Given the description of an element on the screen output the (x, y) to click on. 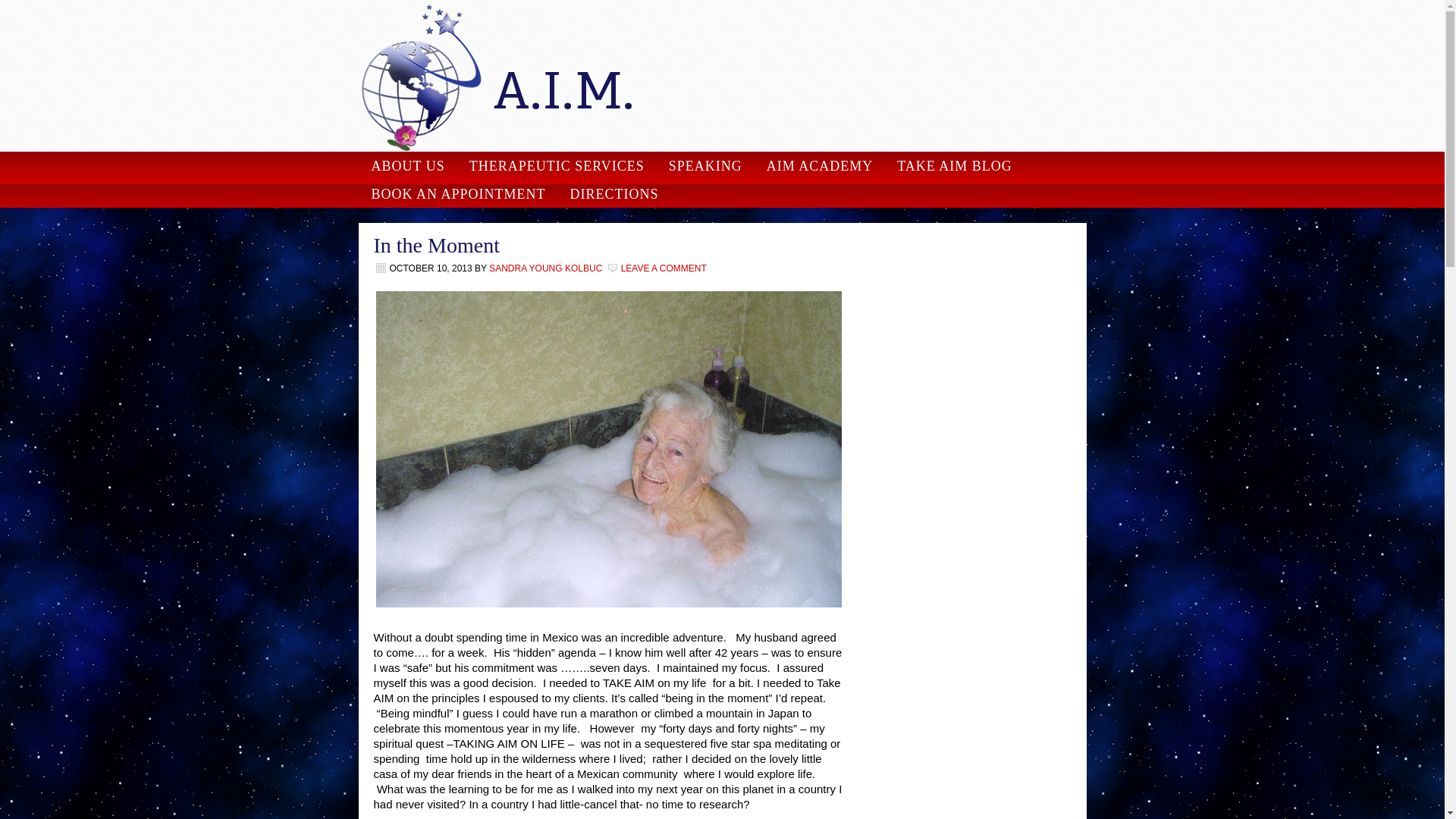
SPEAKING Element type: text (704, 165)
TAKE AIM BLOG Element type: text (953, 165)
LEAVE A COMMENT Element type: text (663, 268)
AIM ACADEMY Element type: text (818, 165)
AIM INTERNATIONAL INC. Element type: text (721, 75)
THERAPEUTIC SERVICES Element type: text (555, 165)
DIRECTIONS Element type: text (613, 193)
SANDRA YOUNG KOLBUC Element type: text (545, 268)
BOOK AN APPOINTMENT Element type: text (456, 193)
ABOUT US Element type: text (406, 165)
